Given the description of an element on the screen output the (x, y) to click on. 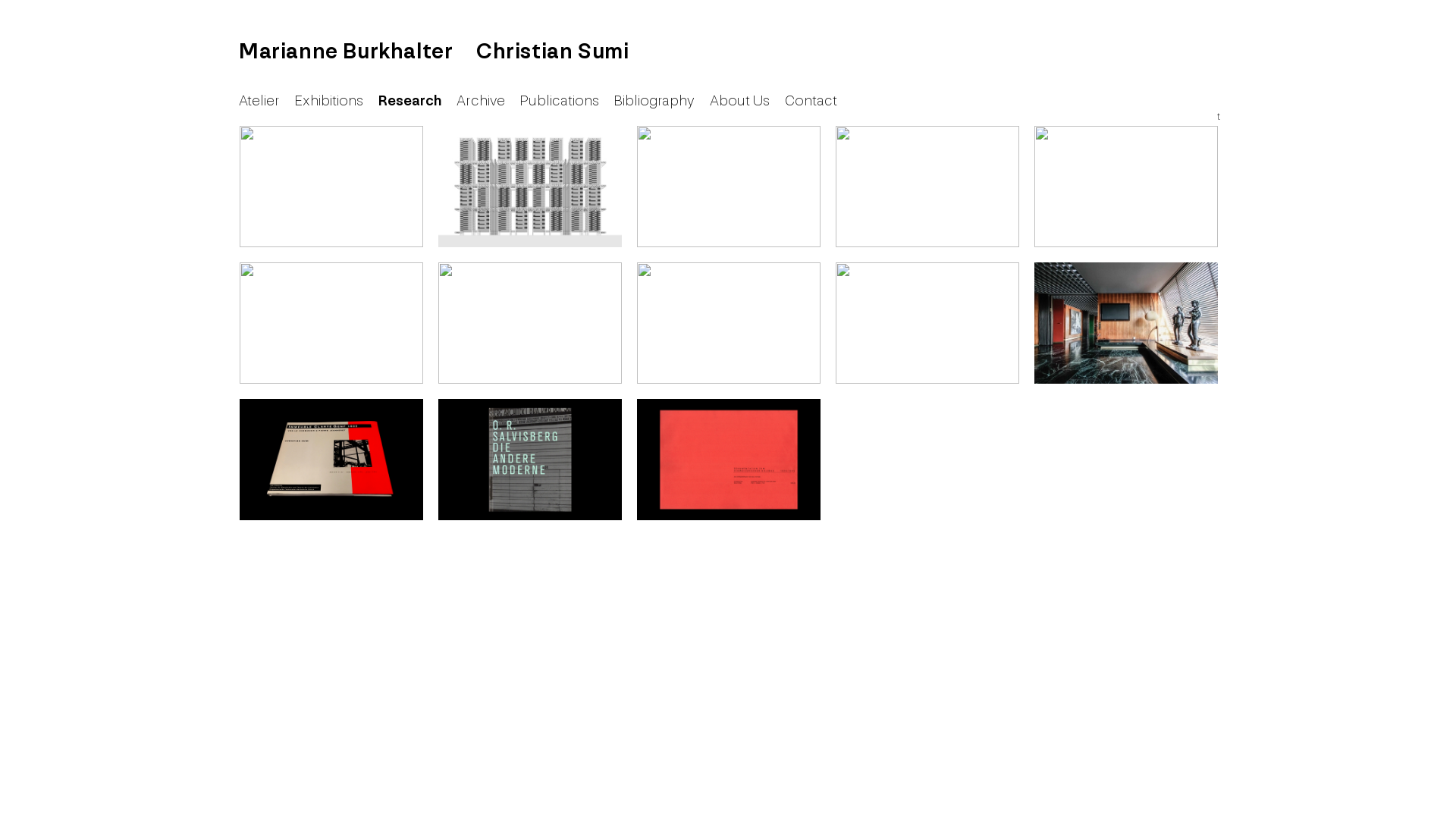
Bibliography Element type: text (654, 100)
Atelier Element type: text (258, 100)
Exhibitions Element type: text (328, 100)
Archive Element type: text (480, 100)
Research Element type: text (409, 100)
Contact Element type: text (810, 100)
About Us Element type: text (739, 100)
Publications Element type: text (559, 100)
